Given the description of an element on the screen output the (x, y) to click on. 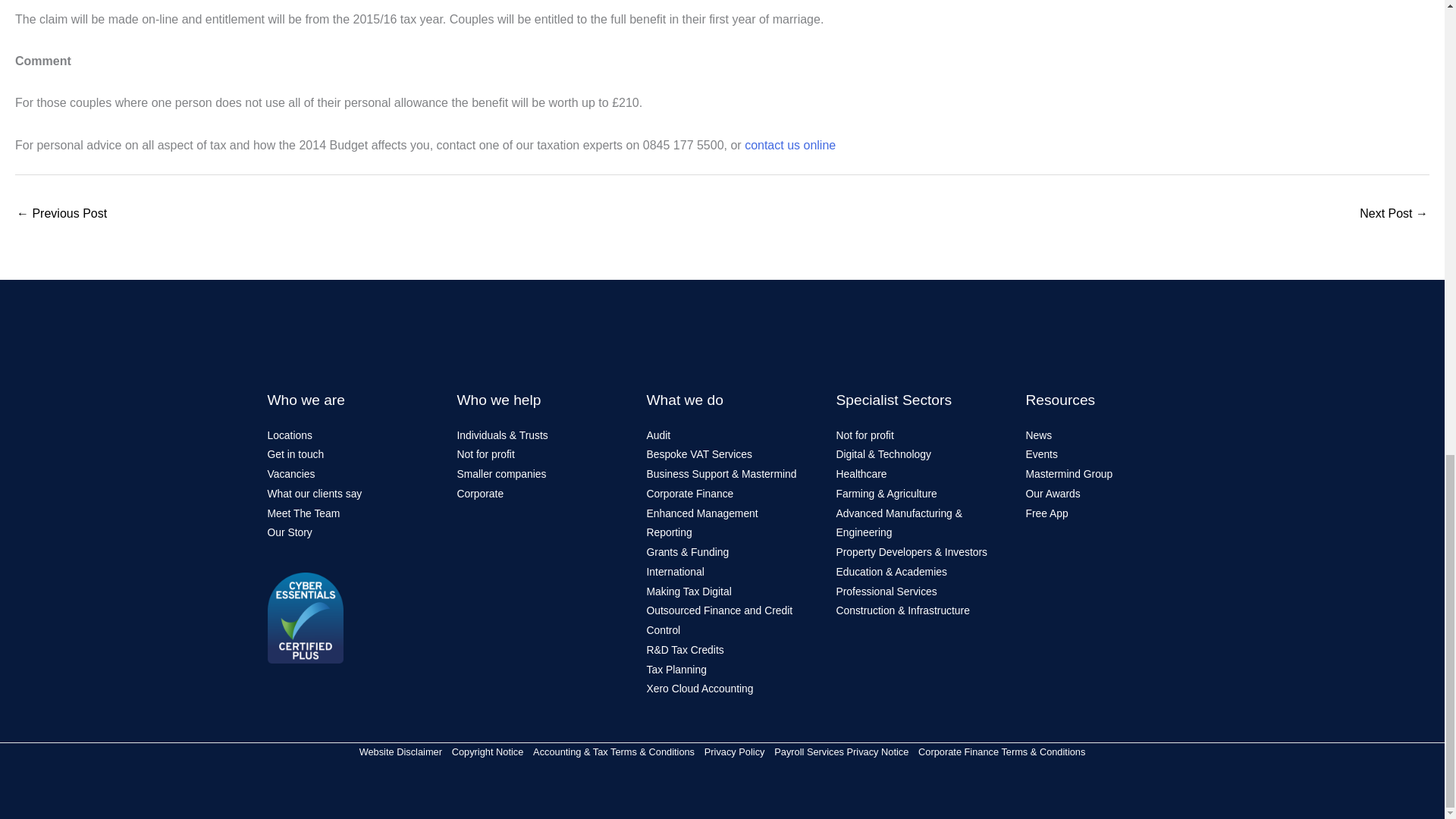
Audit (657, 435)
Not for profit (485, 453)
Vacancies (290, 473)
Get in touch (294, 453)
Locations (288, 435)
contact us here (789, 144)
Our Story (288, 532)
Corporate (480, 493)
Meet The Team (302, 512)
Bespoke VAT Services (698, 453)
